Given the description of an element on the screen output the (x, y) to click on. 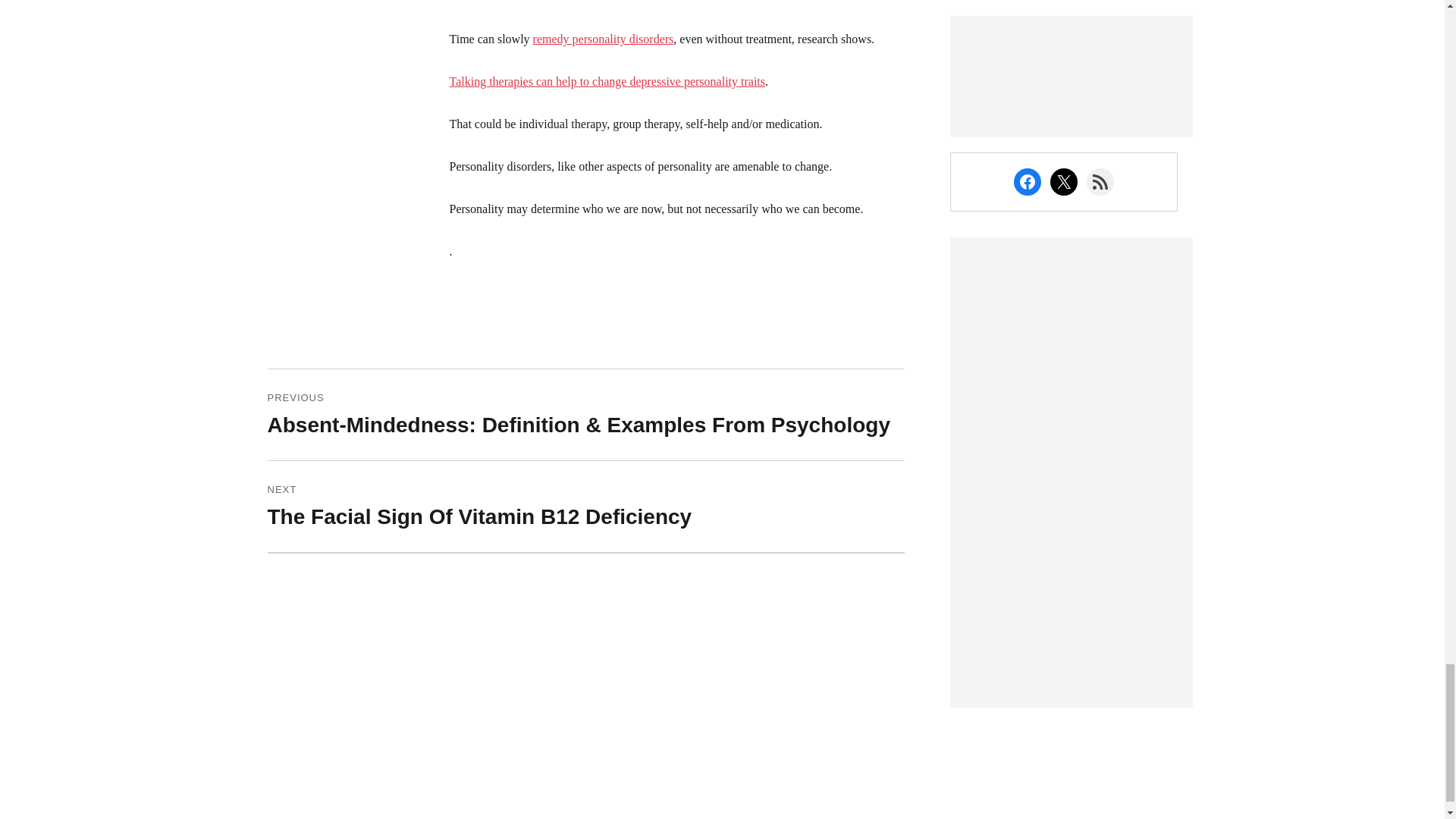
remedy personality disorders (603, 38)
